Given the description of an element on the screen output the (x, y) to click on. 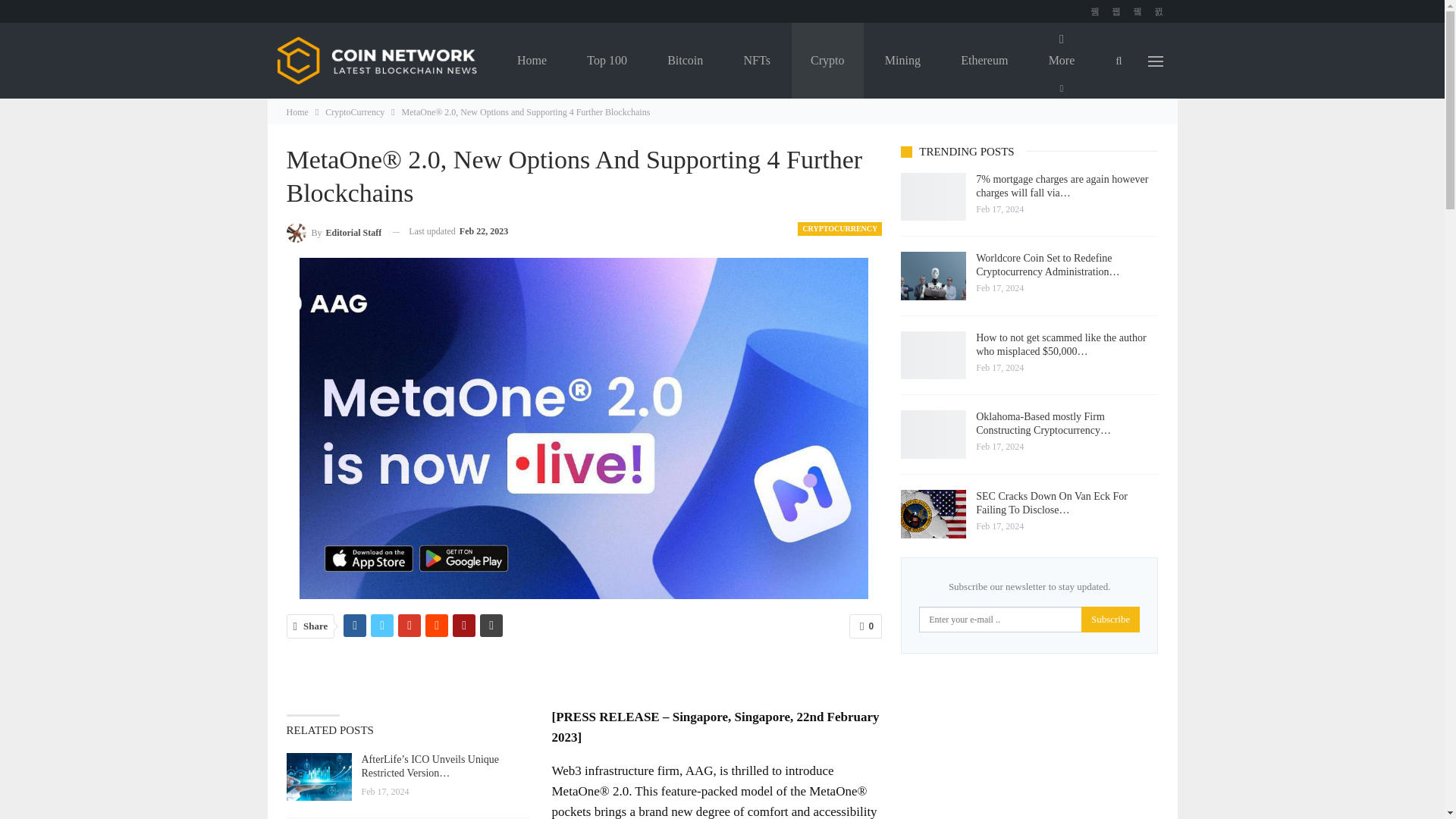
Top 100 (606, 60)
Mining (902, 60)
CryptoCurrency (354, 112)
Home (297, 112)
Home (531, 60)
Bitcoin (684, 60)
Crypto (827, 60)
Ethereum (984, 60)
Browse Author Articles (333, 231)
CRYPTOCURRENCY (839, 228)
By Editorial Staff (333, 231)
